Given the description of an element on the screen output the (x, y) to click on. 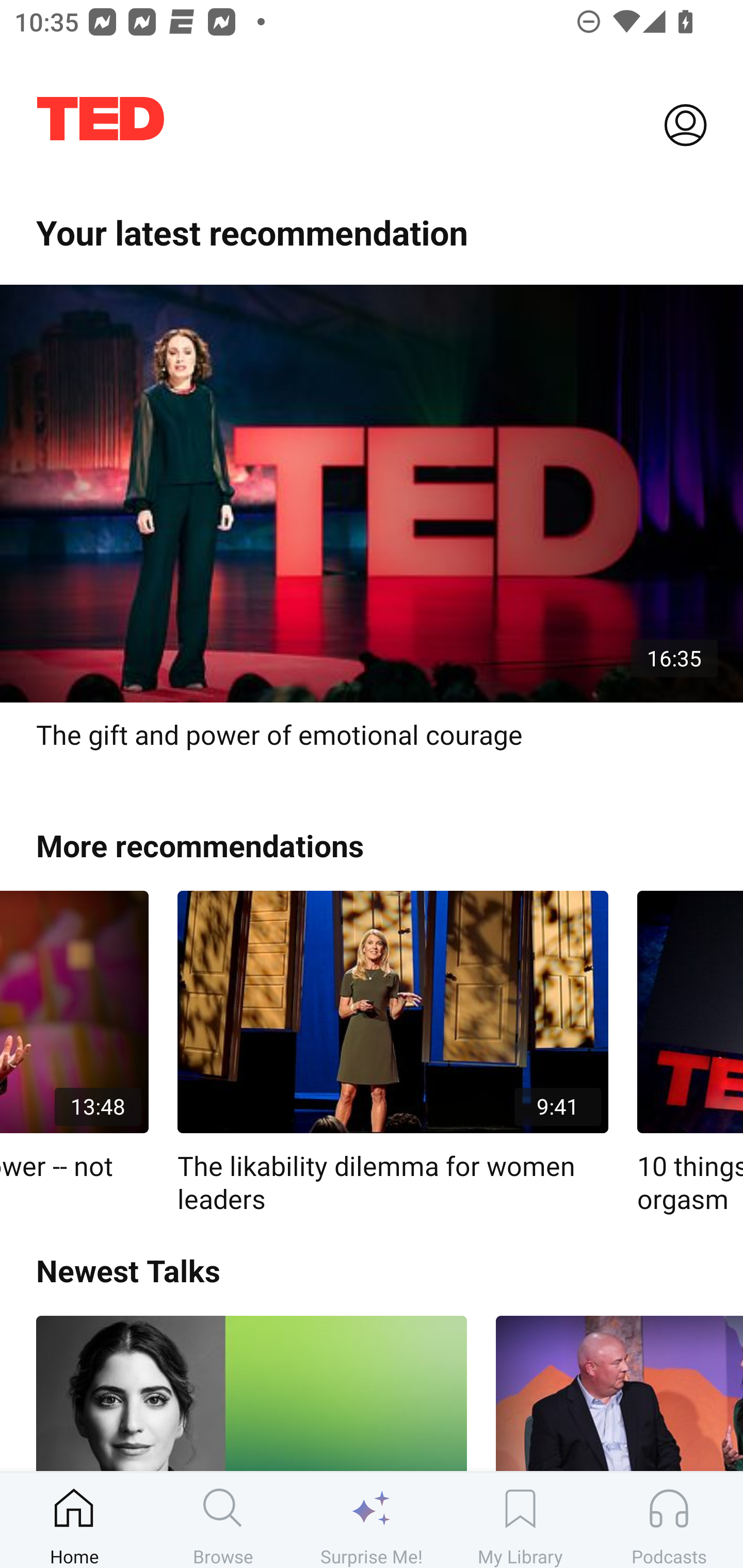
9:41 The likability dilemma for women leaders (392, 1053)
Home (74, 1520)
Browse (222, 1520)
Surprise Me! (371, 1520)
My Library (519, 1520)
Podcasts (668, 1520)
